Given the description of an element on the screen output the (x, y) to click on. 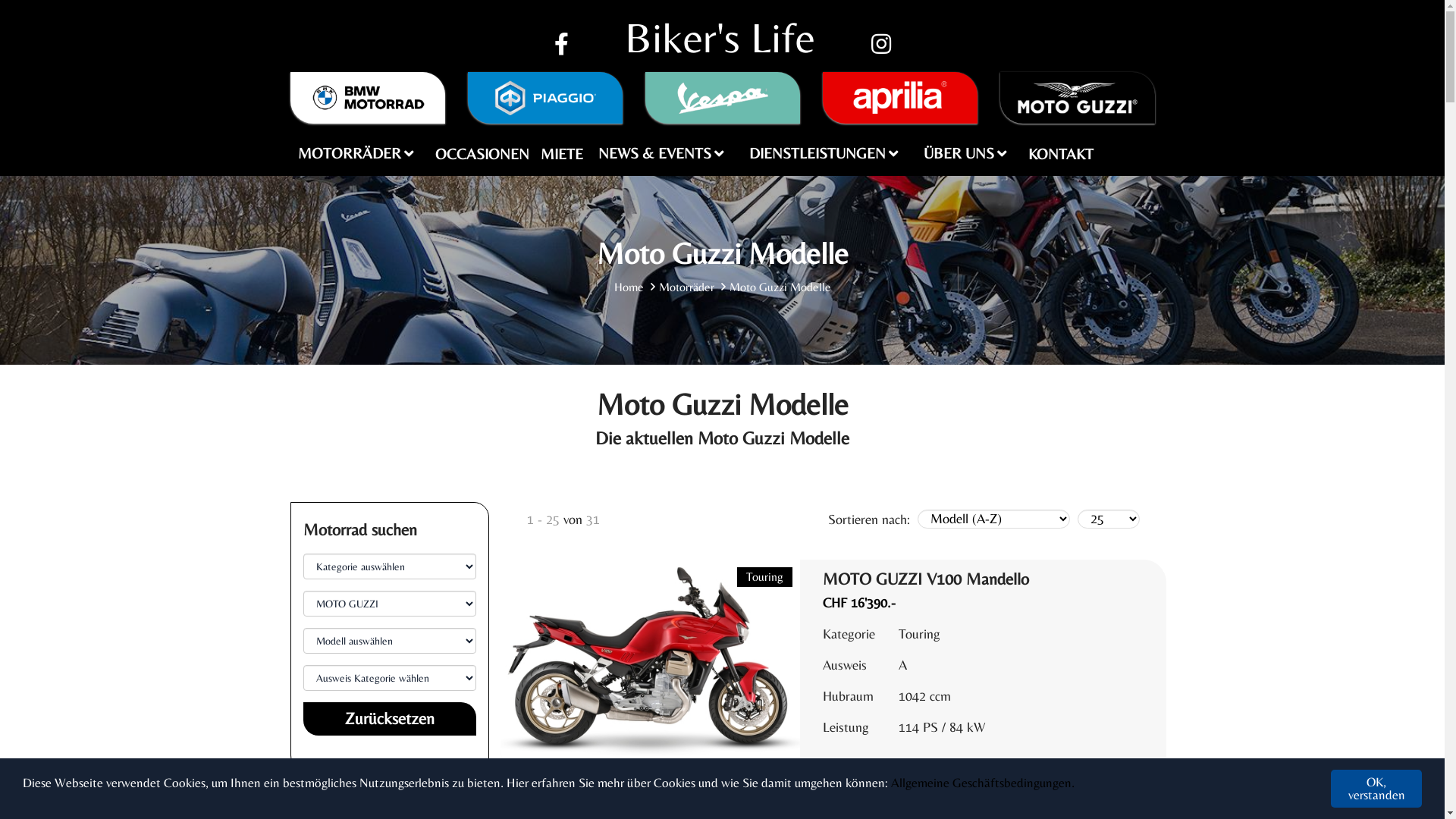
MOTO GUZZI V100 Mandello Element type: text (925, 578)
OK, verstanden Element type: text (1375, 788)
MIETE Element type: text (561, 153)
KONTAKT Element type: text (1059, 153)
Home Element type: text (628, 286)
OCCASIONEN Element type: text (481, 153)
NEWS & EVENTS Element type: text (663, 150)
Biker's Life Element type: text (719, 37)
DIENSTLEISTUNGEN Element type: text (826, 150)
